Given the description of an element on the screen output the (x, y) to click on. 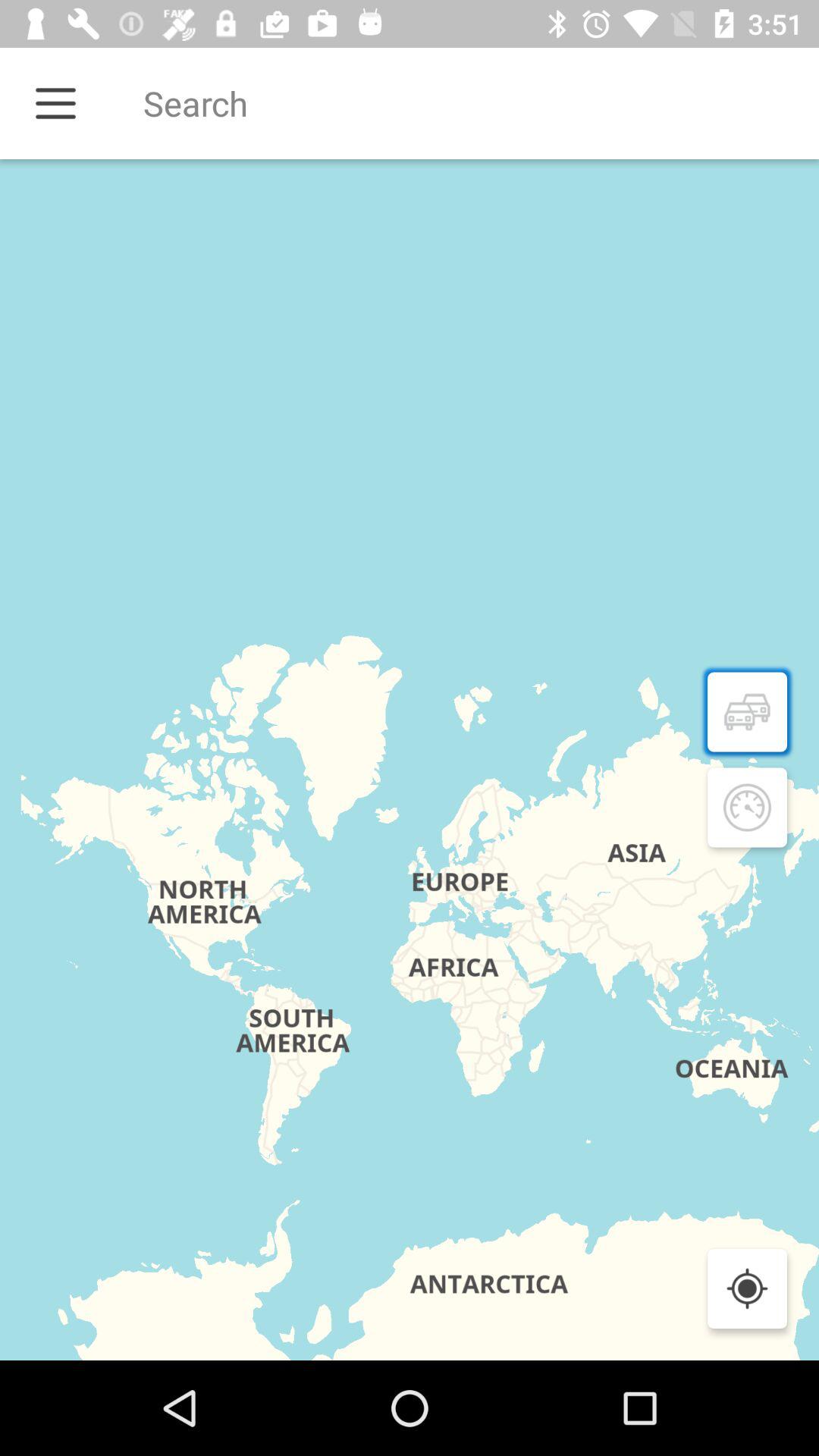
select menu option (55, 103)
